Given the description of an element on the screen output the (x, y) to click on. 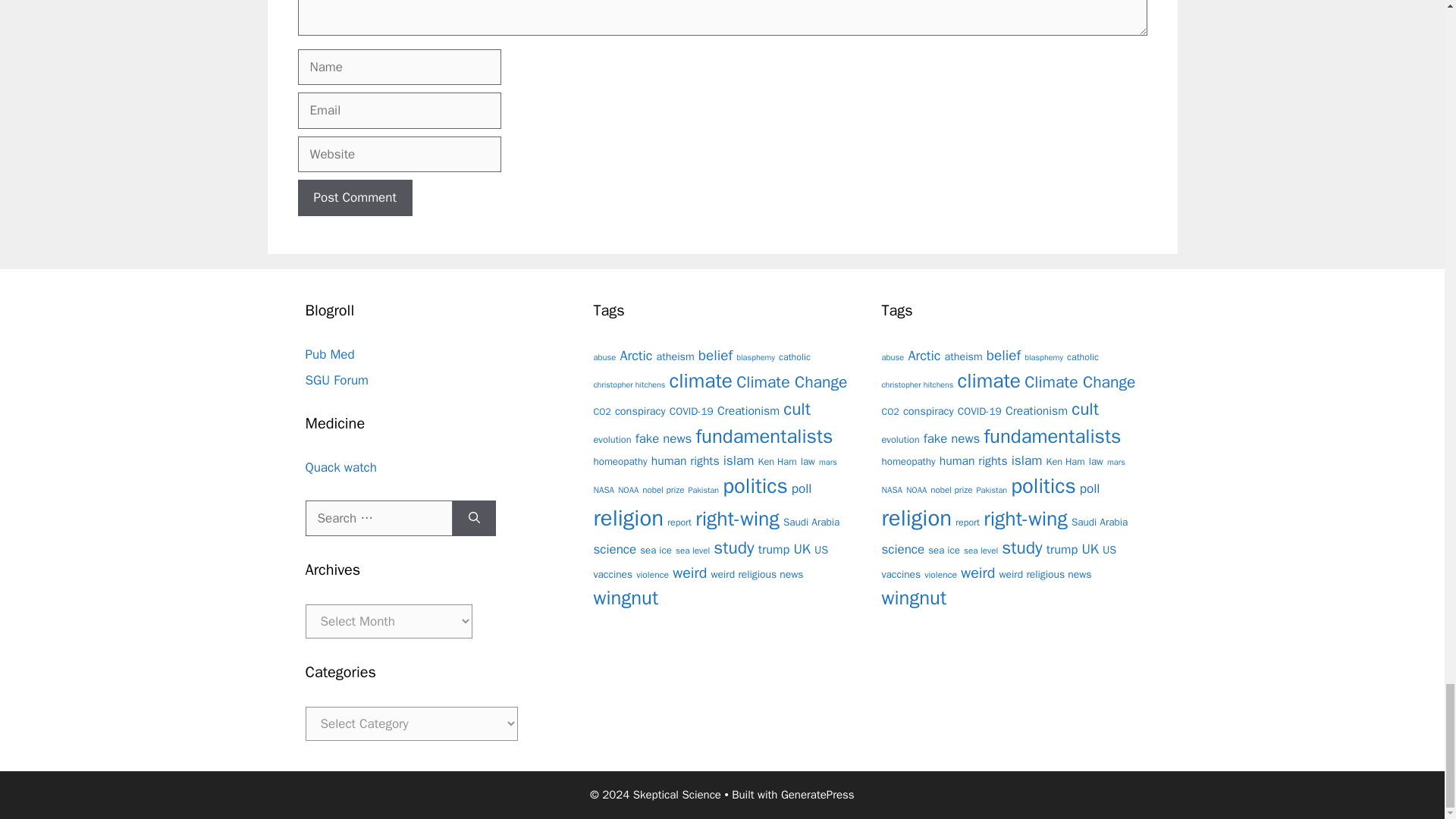
Post Comment (354, 197)
Form for the Skeptics Guide to the Universe (336, 380)
Search for: (377, 518)
